Given the description of an element on the screen output the (x, y) to click on. 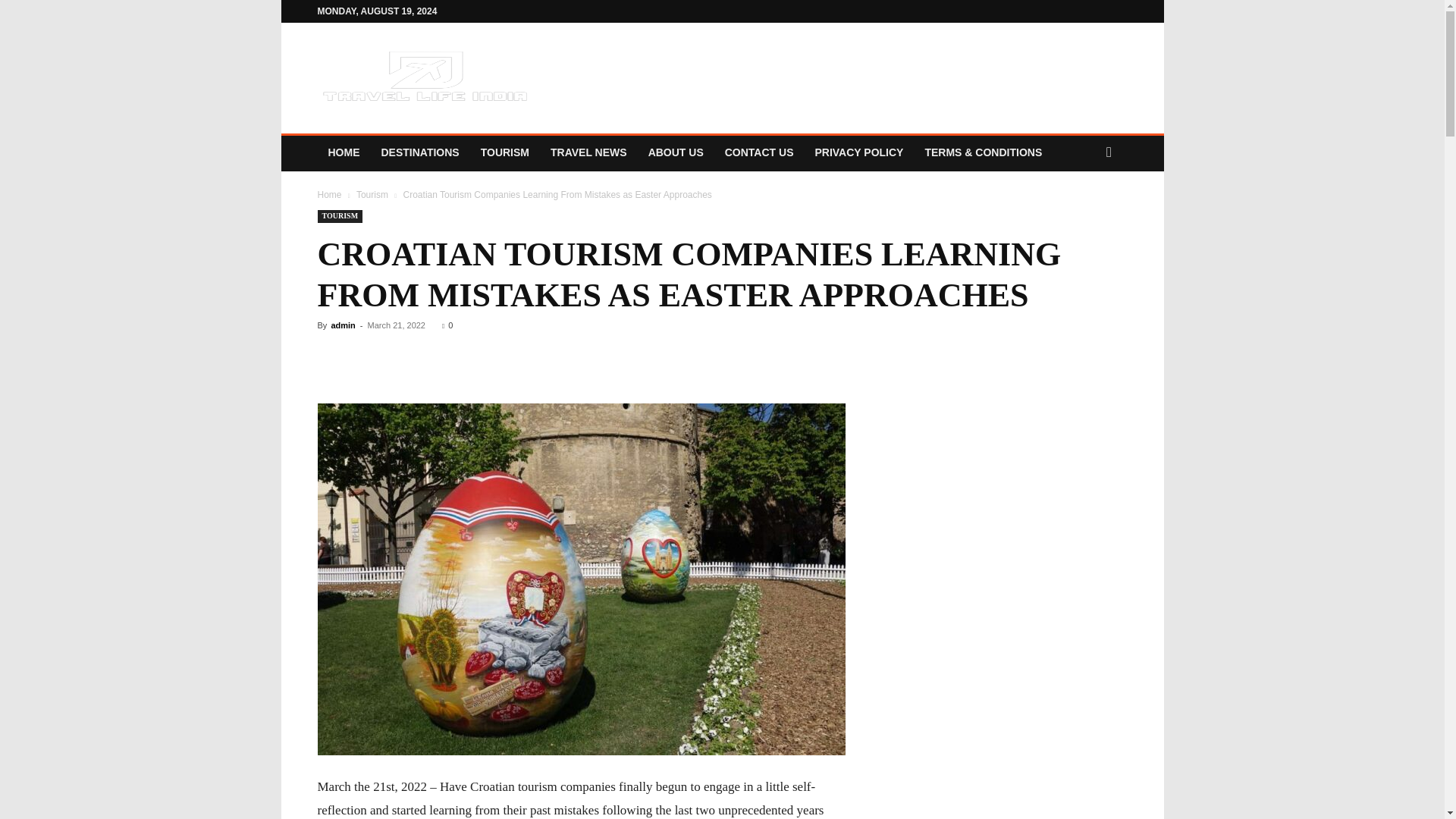
Tourism (372, 194)
admin (342, 325)
PRIVACY POLICY (858, 152)
Home (328, 194)
View all posts in Tourism (372, 194)
HOME (343, 152)
TOURISM (505, 152)
TRAVEL NEWS (588, 152)
Search (1080, 213)
